Given the description of an element on the screen output the (x, y) to click on. 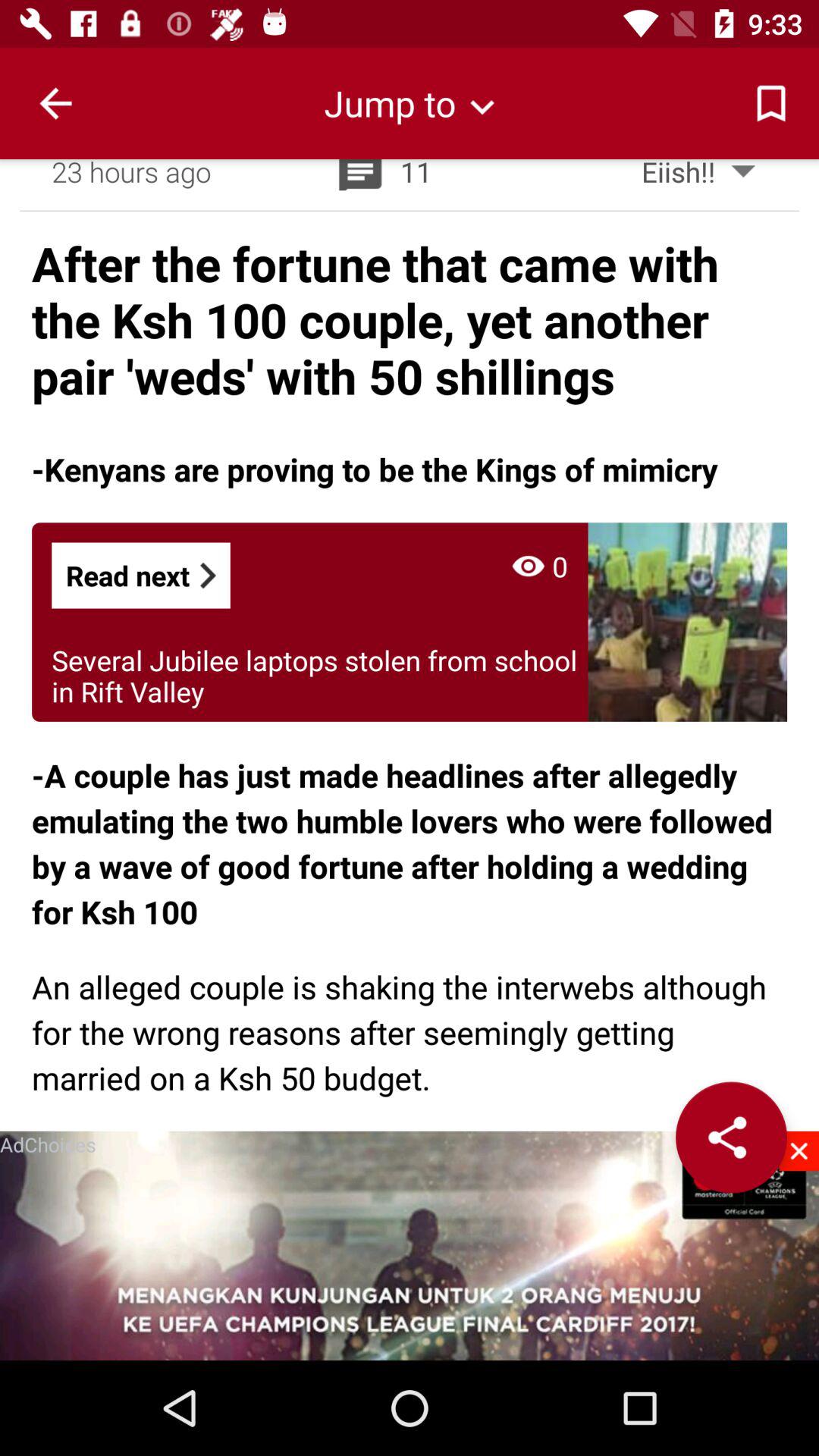
choose the item below an alleged couple icon (799, 1151)
